Given the description of an element on the screen output the (x, y) to click on. 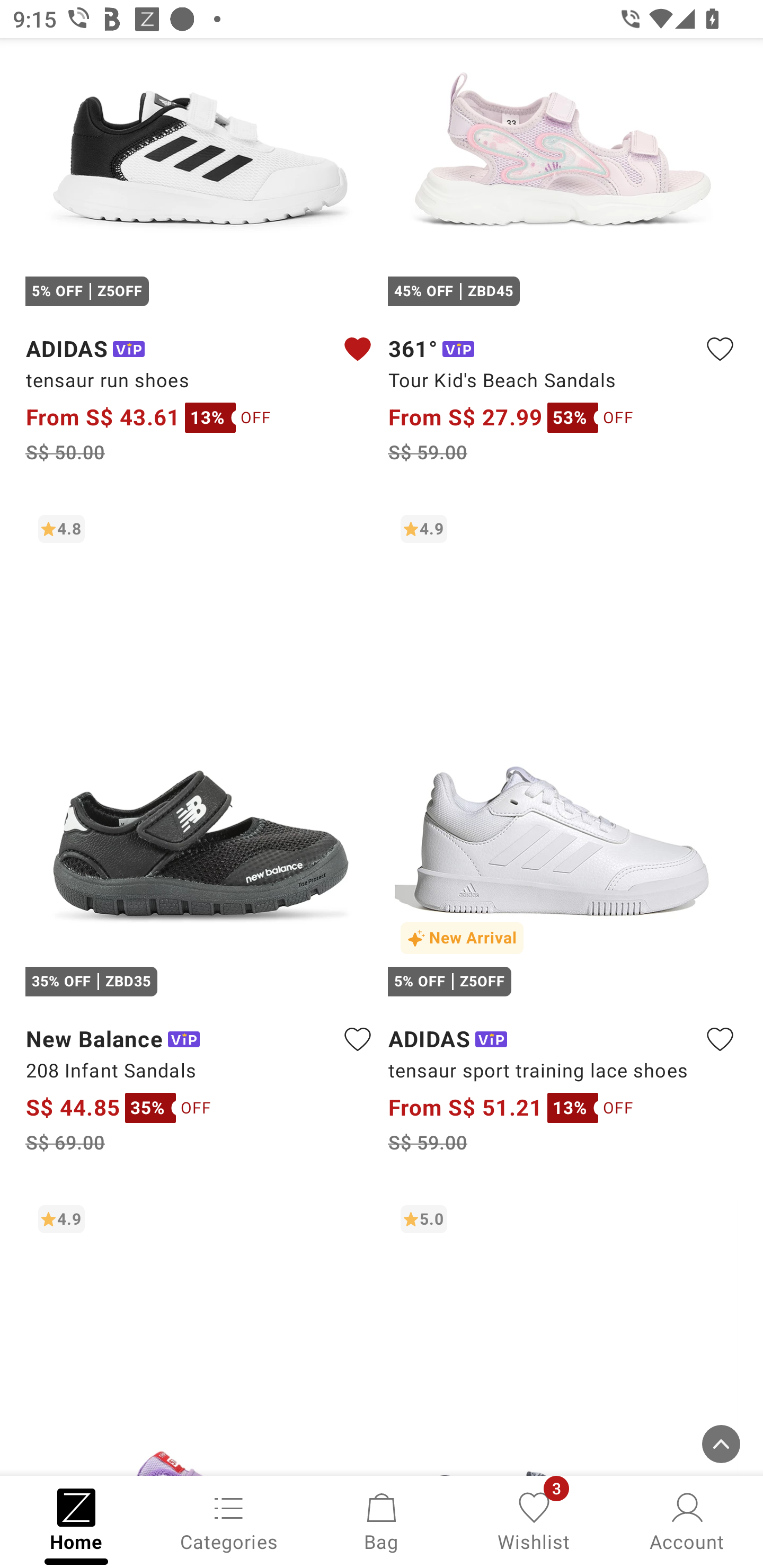
Categories (228, 1519)
Bag (381, 1519)
Wishlist, 3 new notifications Wishlist (533, 1519)
Account (686, 1519)
